Given the description of an element on the screen output the (x, y) to click on. 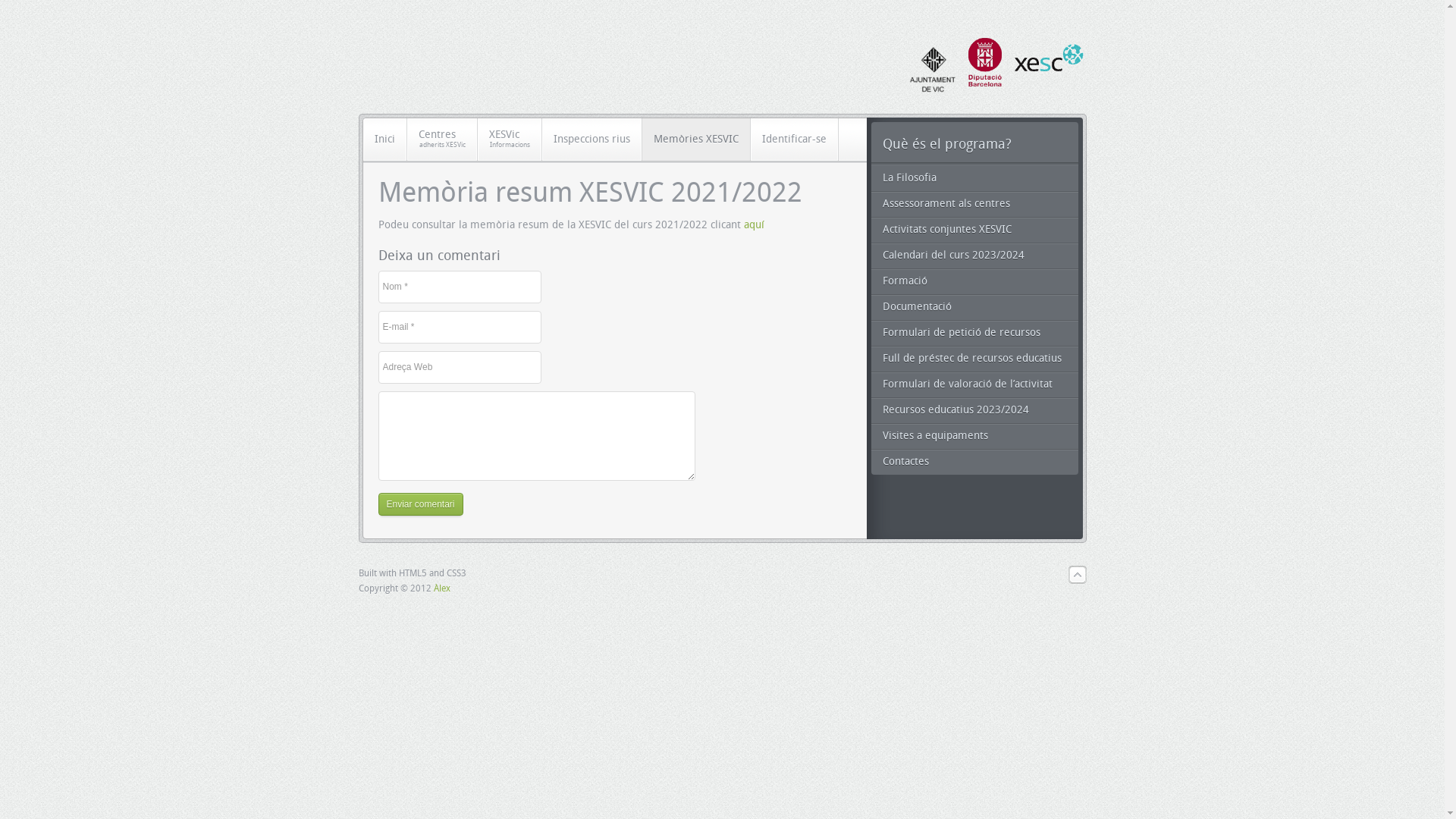
Identificar-se Element type: text (794, 139)
La Filosofia Element type: text (973, 178)
Contactes Element type: text (973, 461)
XESVic
Informacions Element type: text (509, 139)
Centres
adherits XESVic Element type: text (441, 139)
Inici Element type: text (384, 139)
Visites a equipaments Element type: text (973, 435)
Calendari del curs 2023/2024 Element type: text (973, 255)
Recursos educatius 2023/2024 Element type: text (973, 410)
Inspeccions rius Element type: text (591, 139)
Enviar comentari Element type: text (419, 503)
Activitats conjuntes XESVIC Element type: text (973, 229)
Assessorament als centres Element type: text (973, 203)
